Given the description of an element on the screen output the (x, y) to click on. 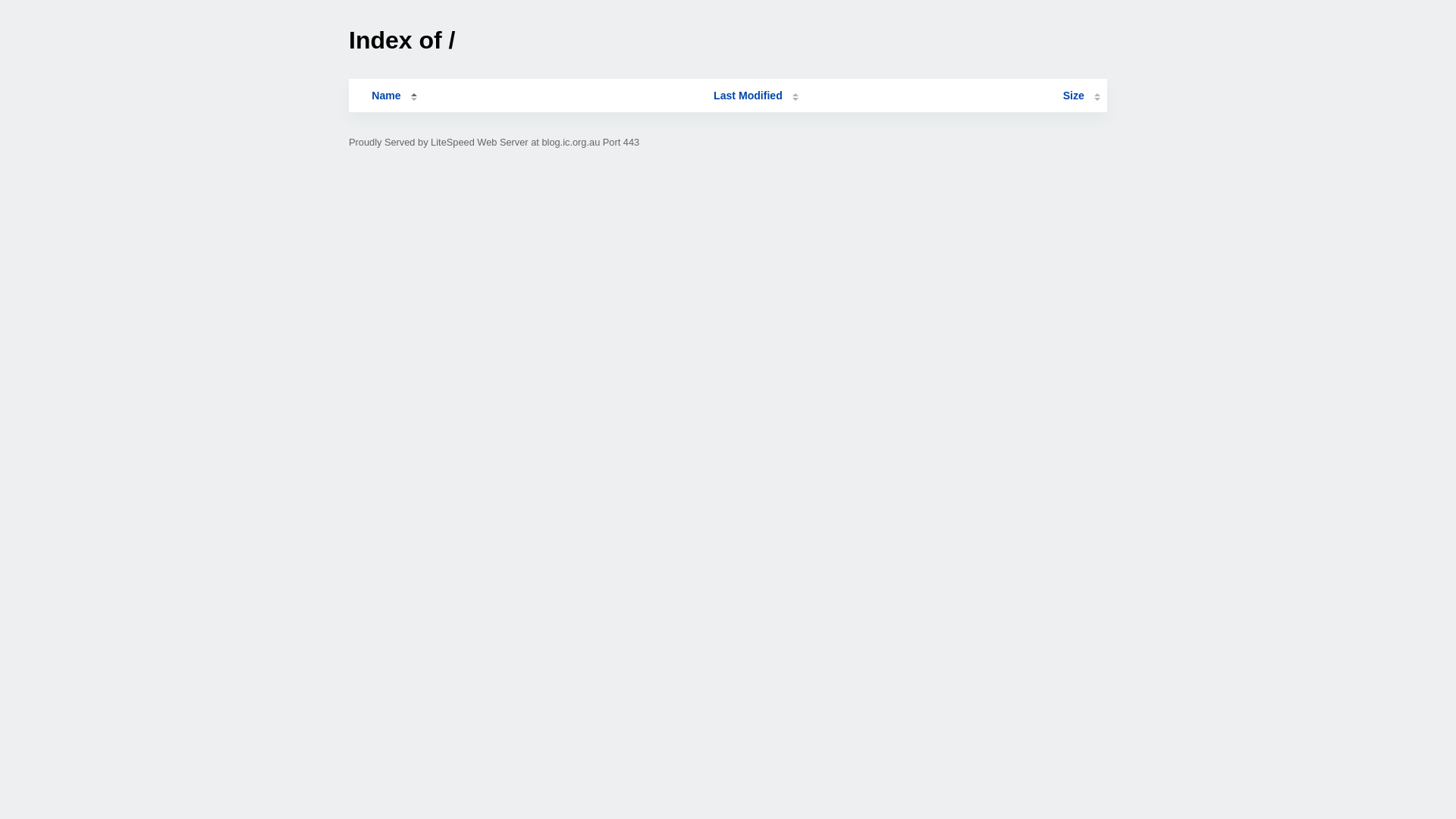
Size Element type: text (1081, 95)
Last Modified Element type: text (755, 95)
Name Element type: text (385, 95)
